Given the description of an element on the screen output the (x, y) to click on. 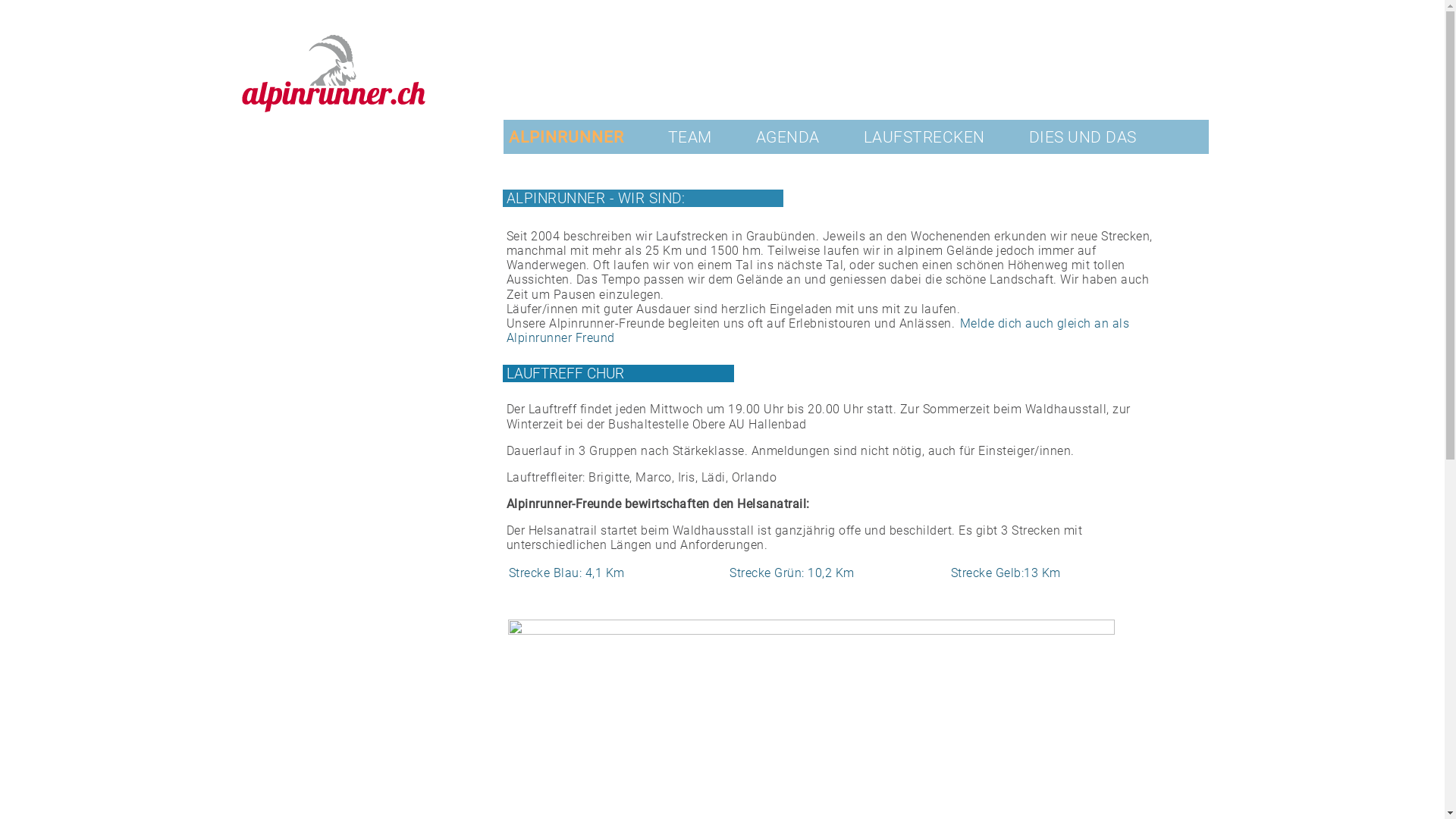
DIES UND DAS Element type: text (1082, 136)
Strecke Blau: 4,1 Km Element type: text (565, 572)
Strecke Gelb:13 Km Element type: text (1004, 572)
Melde dich auch gleich an als Alpinrunner Freund Element type: text (817, 330)
  Element type: text (507, 126)
LAUFSTRECKEN Element type: text (924, 136)
TEAM Element type: text (689, 136)
AGENDA Element type: text (787, 136)
 startseite alpinrunner.ch Element type: hover (332, 151)
